Given the description of an element on the screen output the (x, y) to click on. 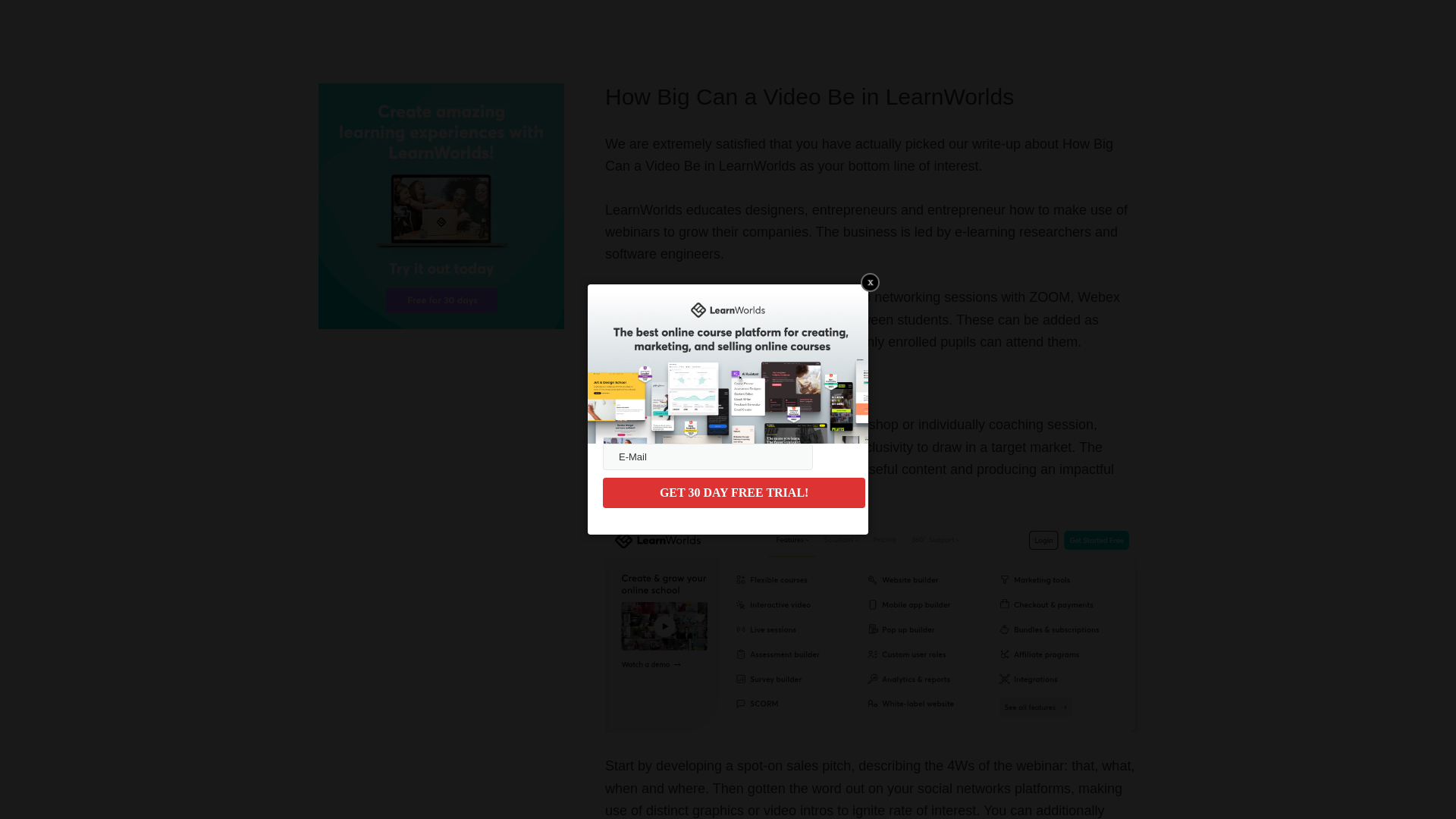
GET 30 DAY FREE TRIAL! (733, 492)
GET 30 DAY FREE TRIAL! (733, 492)
